Given the description of an element on the screen output the (x, y) to click on. 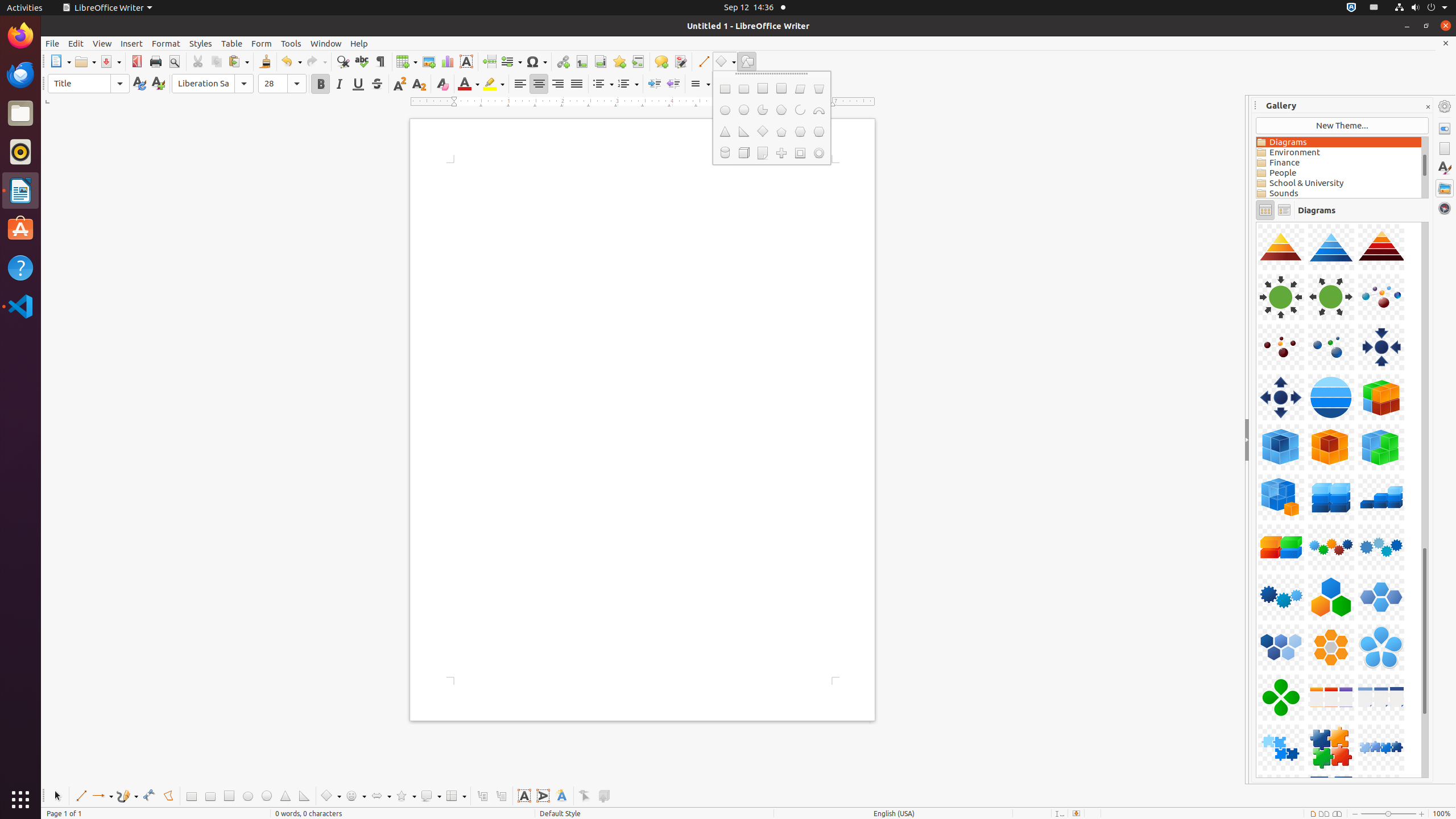
Right Triangle Element type: push-button (303, 795)
Format Element type: menu (165, 43)
Italic Element type: toggle-button (338, 83)
Cube Element type: toggle-button (743, 153)
Square Element type: push-button (228, 795)
